Given the description of an element on the screen output the (x, y) to click on. 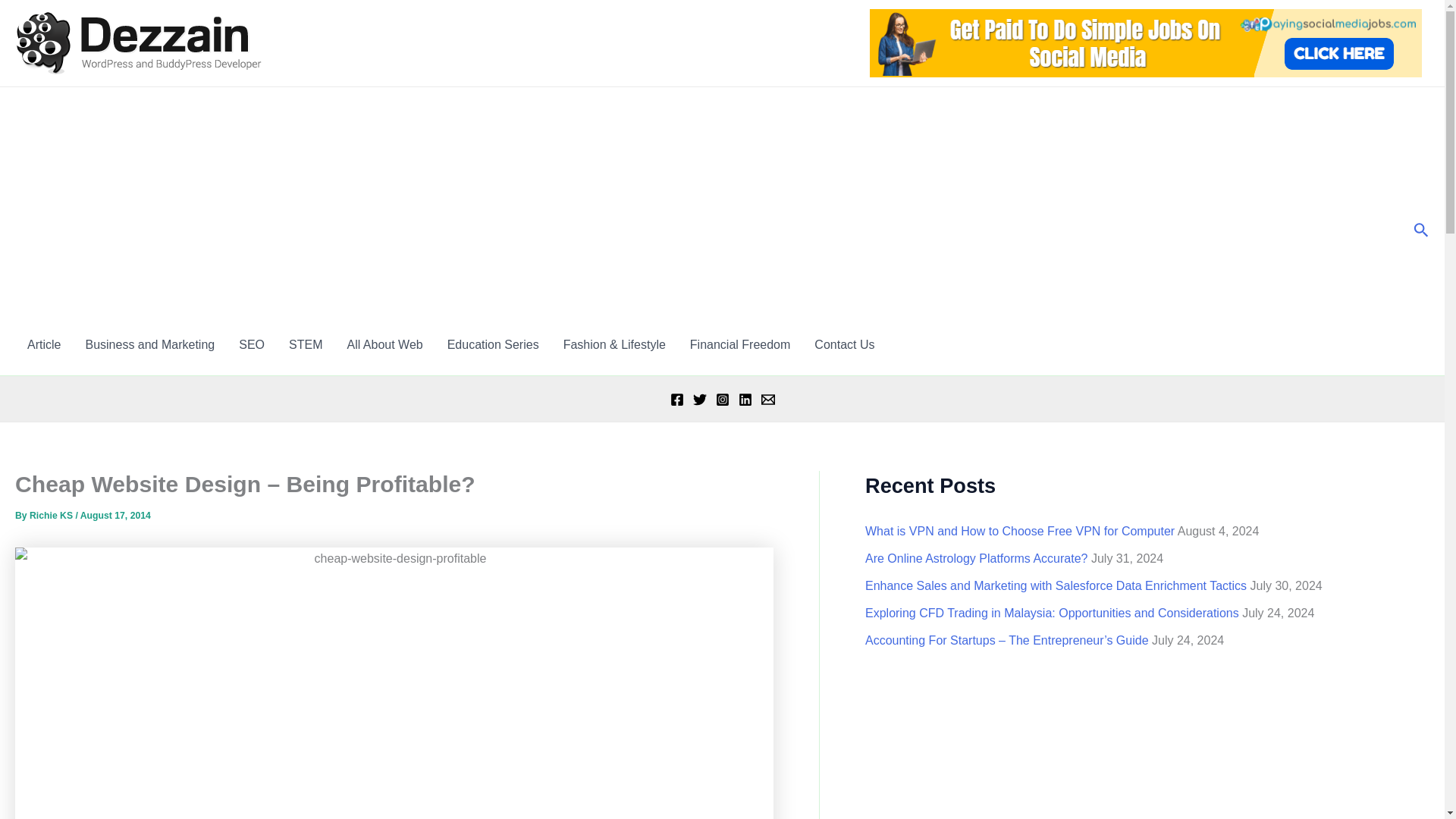
Education Series (493, 344)
Article (43, 344)
Business and Marketing (149, 344)
Contact Us (844, 344)
Richie KS (52, 515)
View all posts by Richie KS (52, 515)
STEM (305, 344)
All About Web (383, 344)
any inquiries? (844, 344)
Financial Freedom (740, 344)
